Given the description of an element on the screen output the (x, y) to click on. 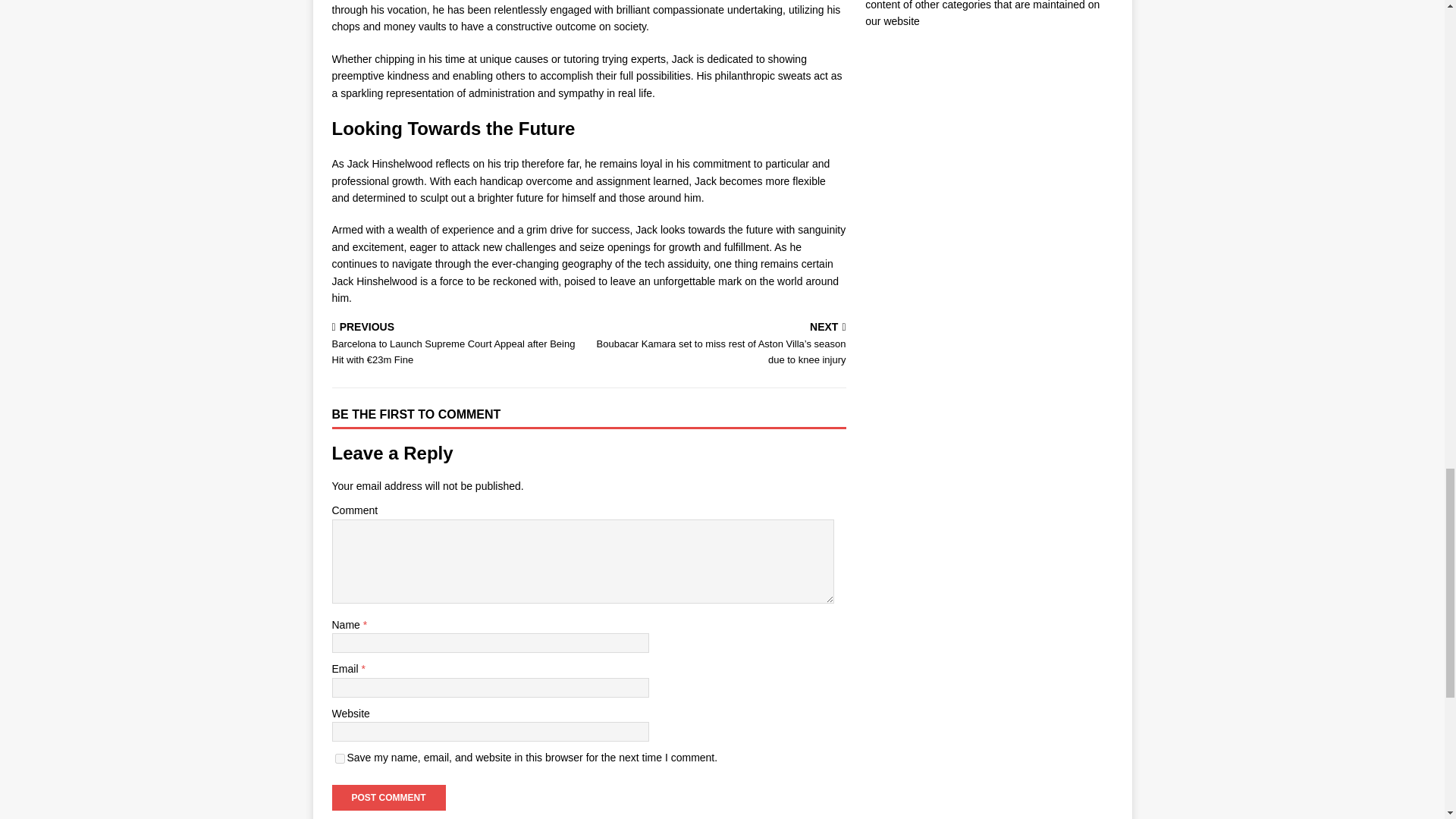
yes (339, 758)
Post Comment (388, 797)
Post Comment (388, 797)
